Given the description of an element on the screen output the (x, y) to click on. 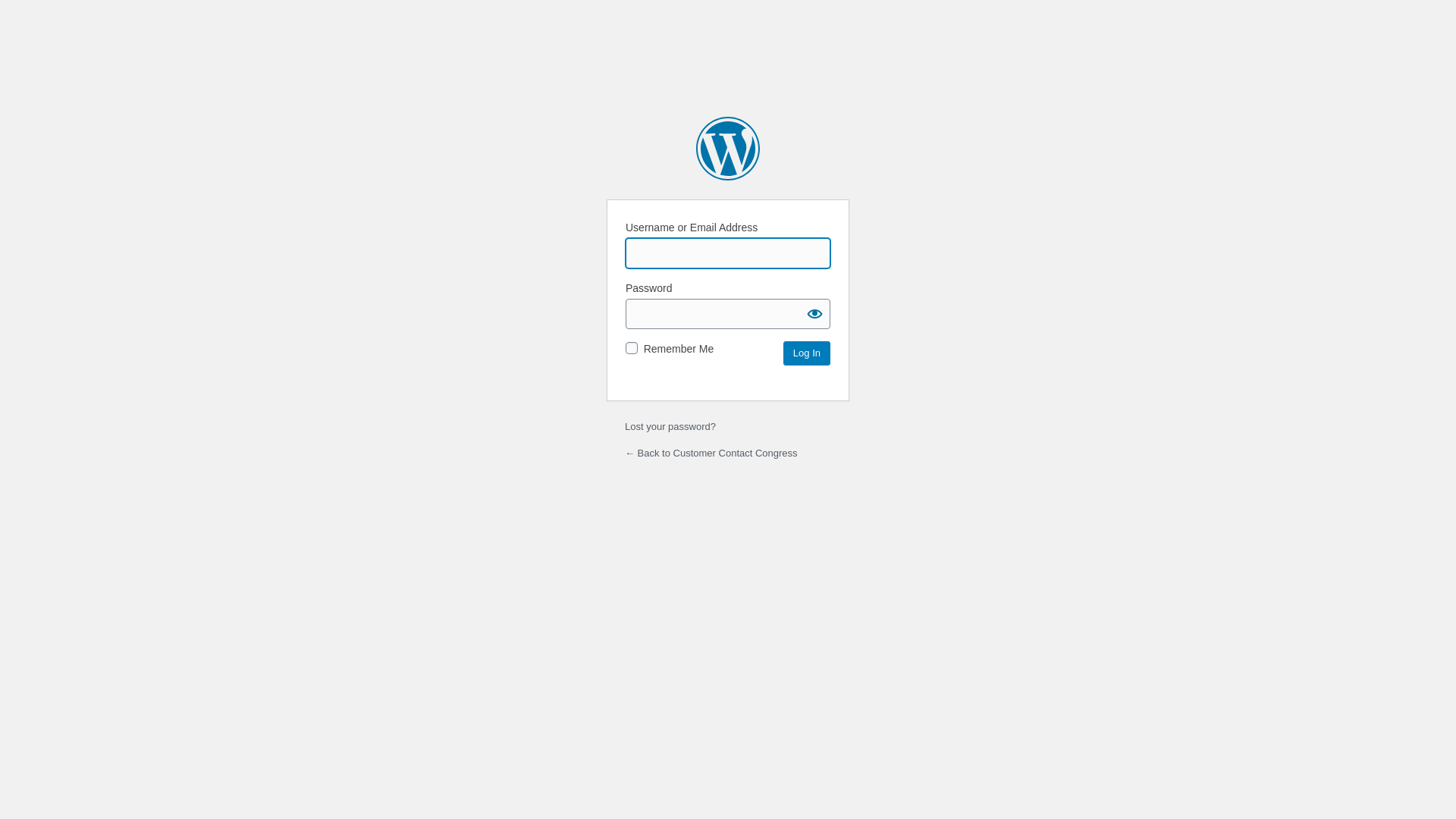
Lost your password? Element type: text (669, 426)
Powered by WordPress Element type: text (727, 148)
Log In Element type: text (806, 353)
